Given the description of an element on the screen output the (x, y) to click on. 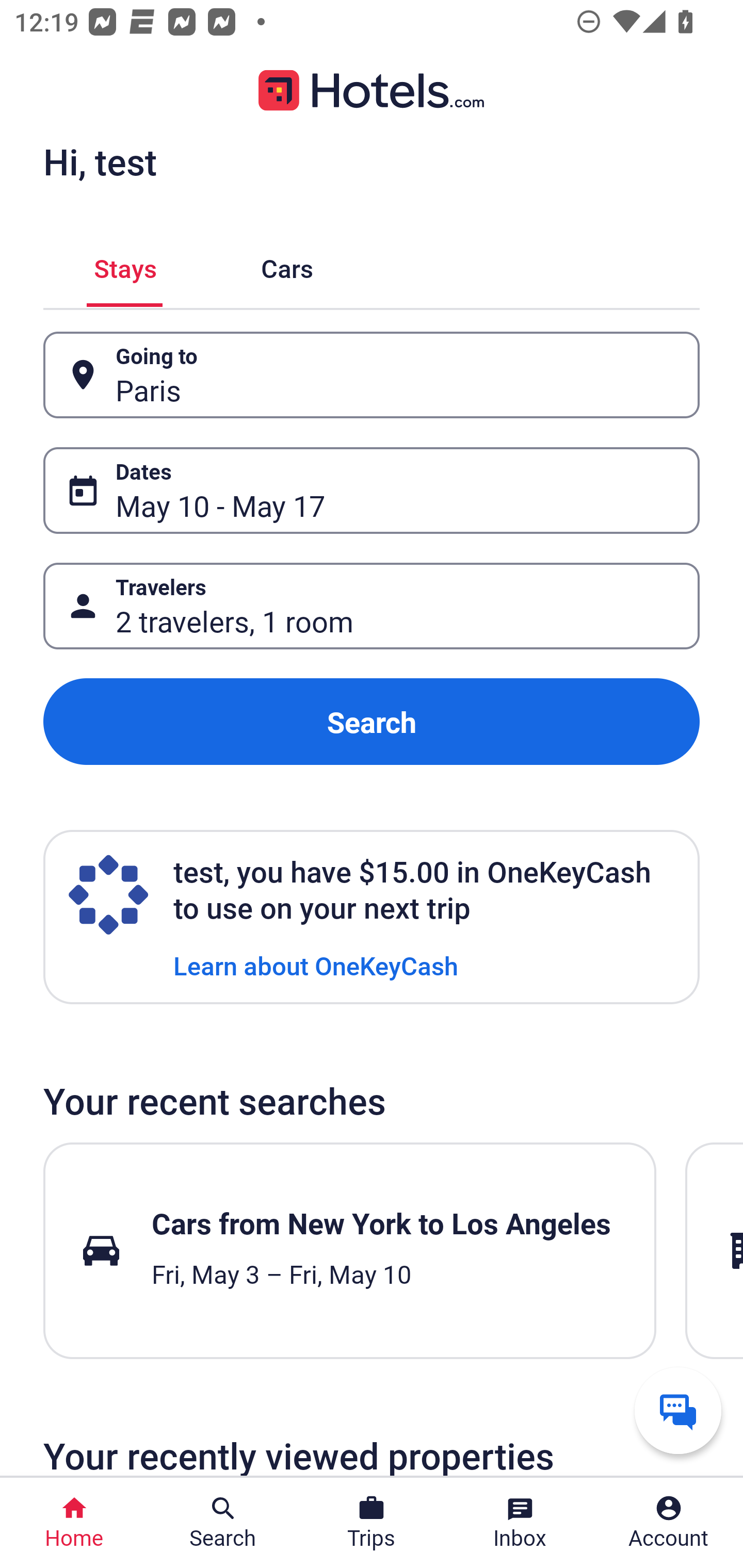
Hi, test (99, 161)
Cars (286, 265)
Going to Button Paris (371, 375)
Dates Button May 10 - May 17 (371, 489)
Travelers Button 2 travelers, 1 room (371, 605)
Search (371, 721)
Learn about OneKeyCash Learn about OneKeyCash Link (315, 964)
Get help from a virtual agent (677, 1410)
Search Search Button (222, 1522)
Trips Trips Button (371, 1522)
Inbox Inbox Button (519, 1522)
Account Profile. Button (668, 1522)
